Given the description of an element on the screen output the (x, y) to click on. 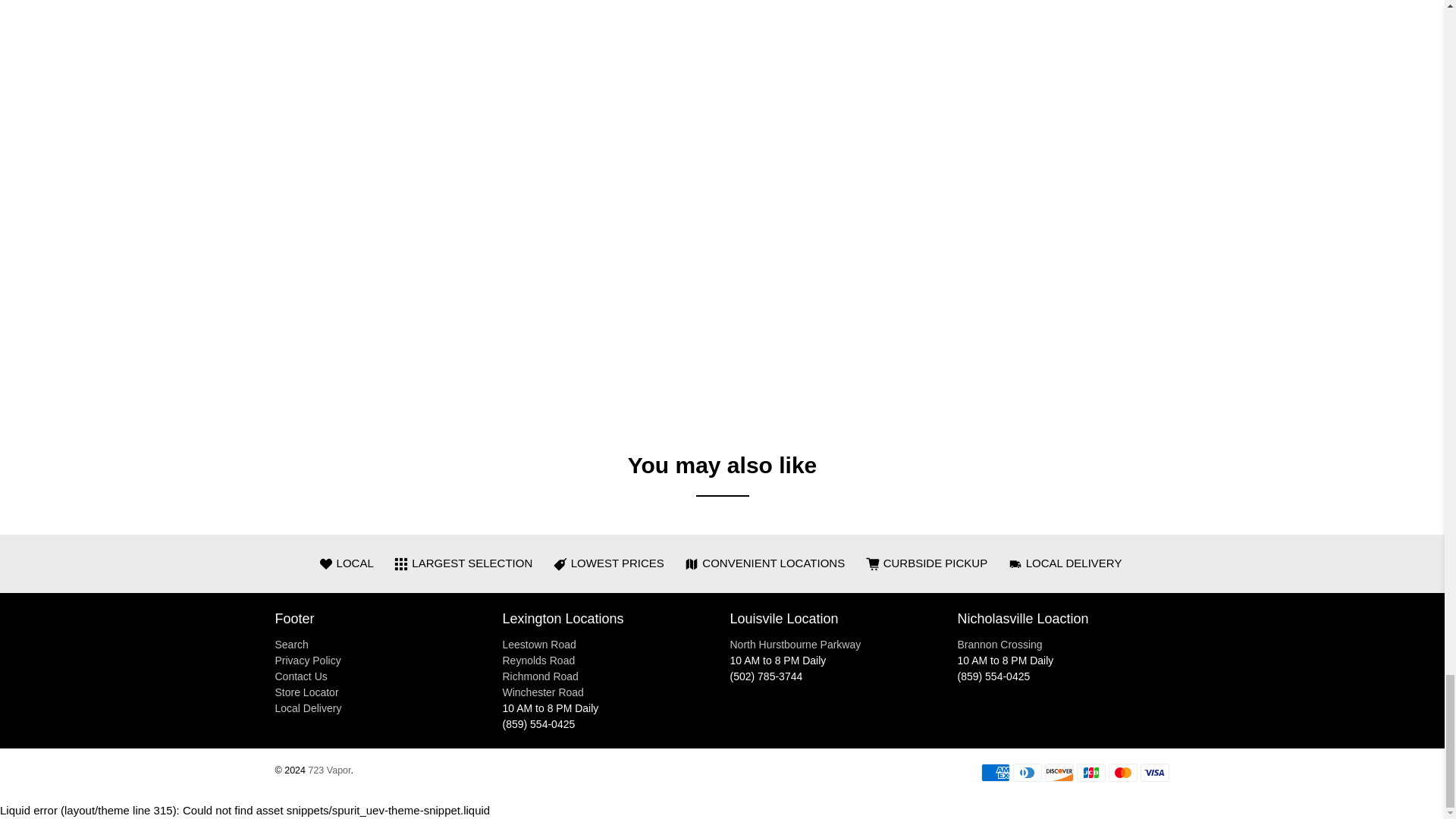
Locations (538, 644)
Locations (538, 660)
American Express (995, 772)
Locations (542, 692)
Locations (794, 644)
Locations (540, 676)
